Given the description of an element on the screen output the (x, y) to click on. 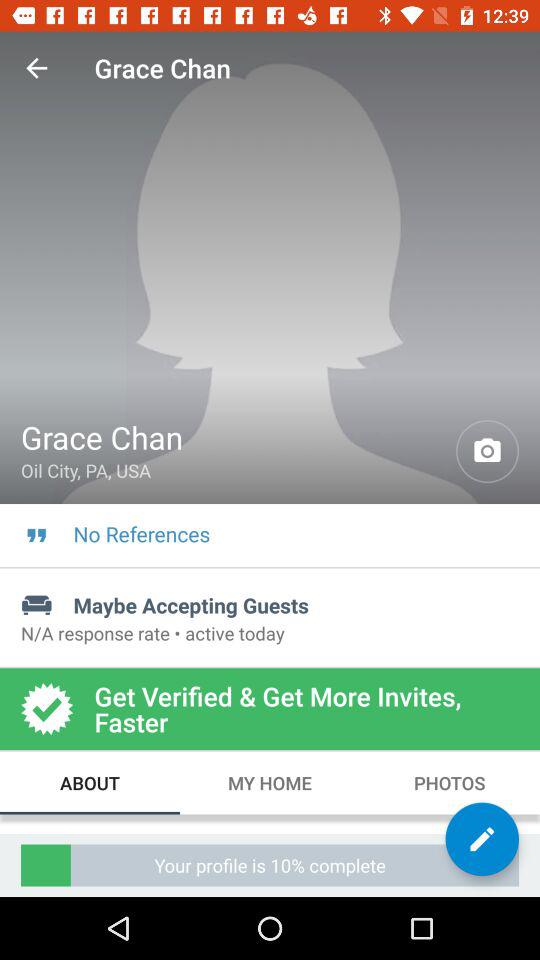
open item to the right of grace chan icon (487, 451)
